Given the description of an element on the screen output the (x, y) to click on. 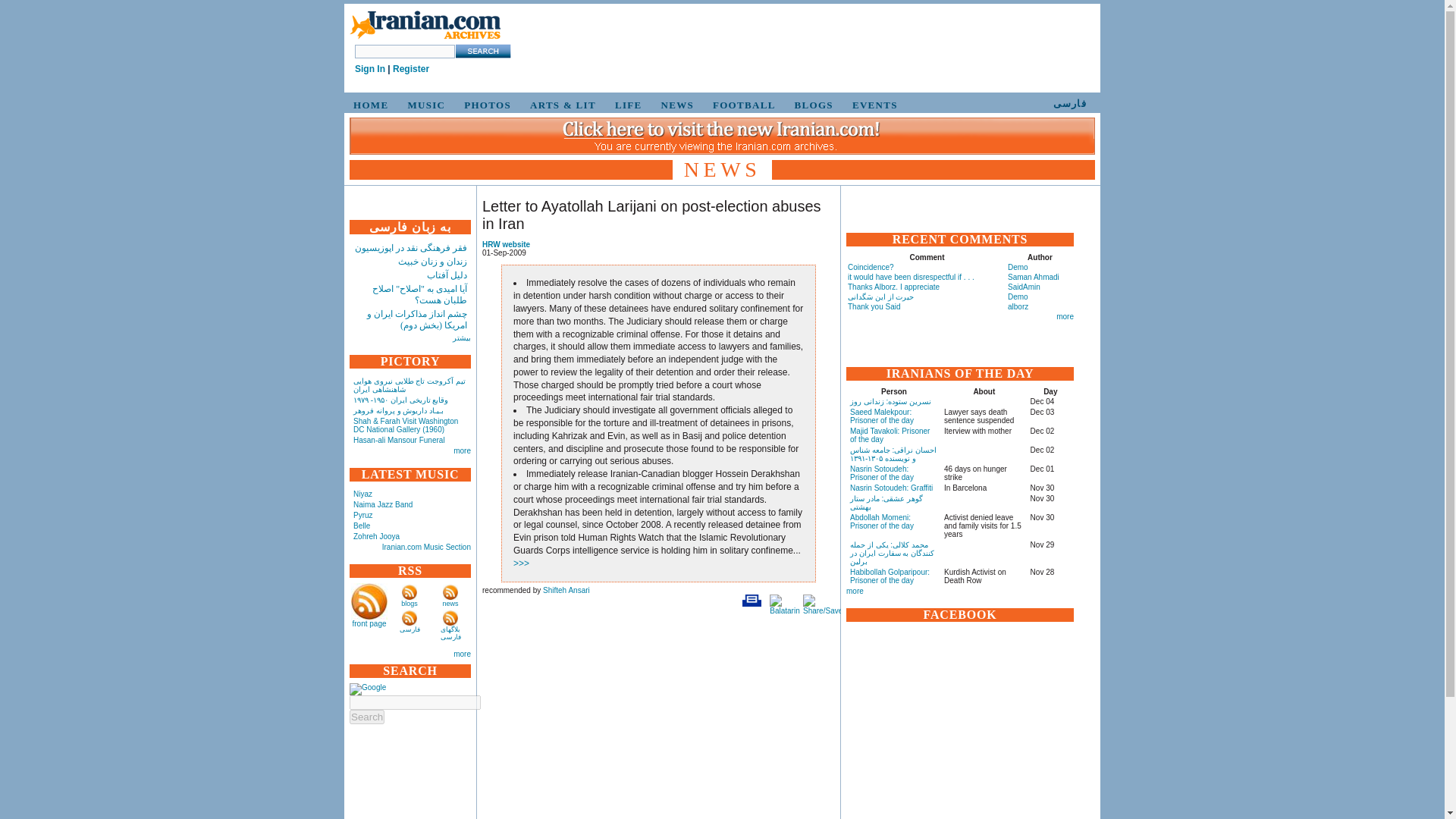
HOME (368, 105)
Naima Jazz Band (382, 504)
Register (411, 68)
Sign In (370, 68)
PHOTOS (484, 105)
blogs (409, 603)
Pyruz (362, 515)
Iranian.com Music Section (425, 546)
Hasan-ali Mansour Funeral (399, 439)
printer friendly (750, 600)
